Given the description of an element on the screen output the (x, y) to click on. 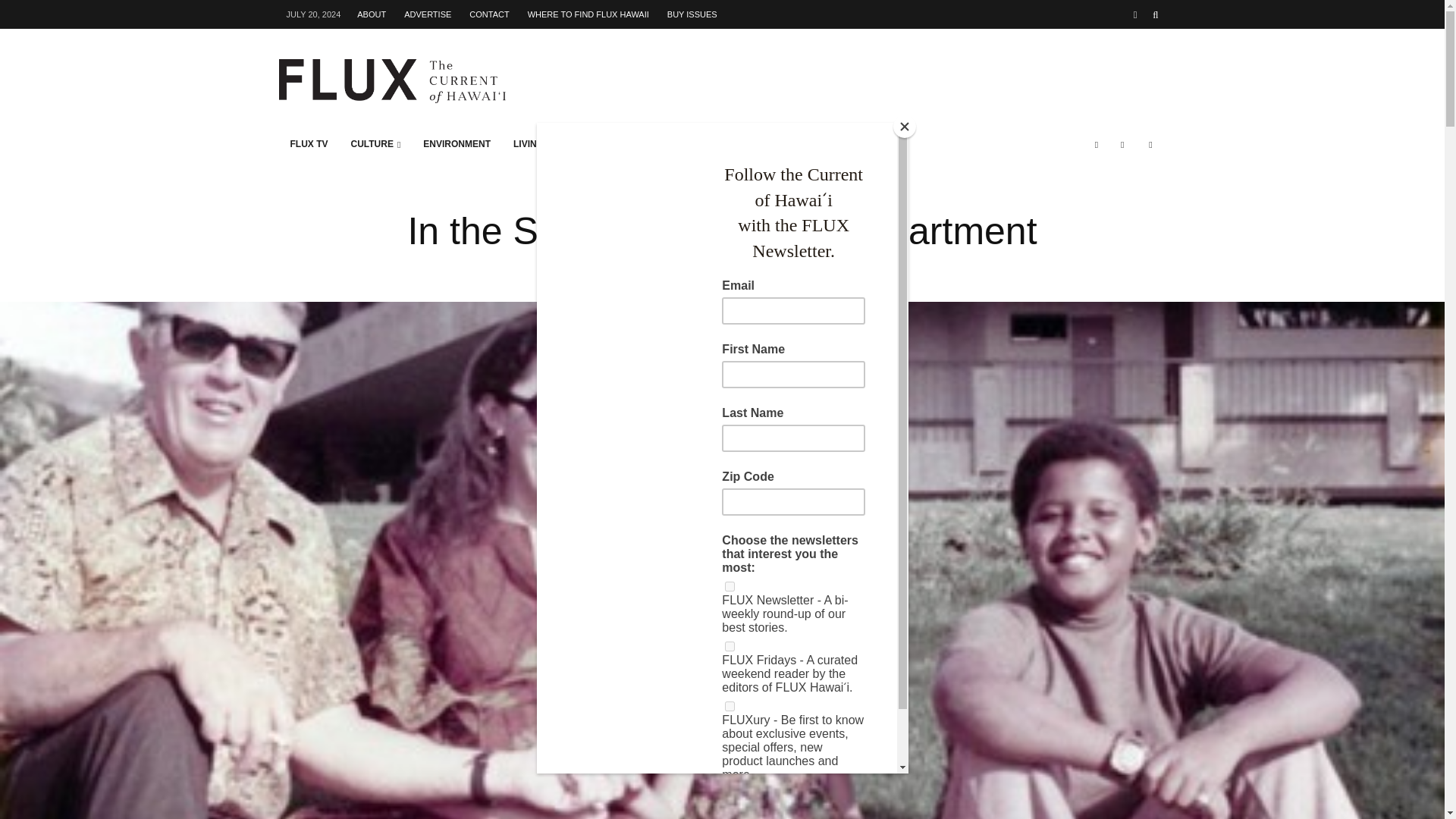
ENVIRONMENT (457, 144)
CULTURE (375, 144)
LIVING WELL (546, 144)
ABOUT (370, 14)
CONTACT (489, 14)
ADVERTISE (427, 14)
BUY ISSUES (692, 14)
WHERE TO FIND FLUX HAWAII (588, 14)
